Given the description of an element on the screen output the (x, y) to click on. 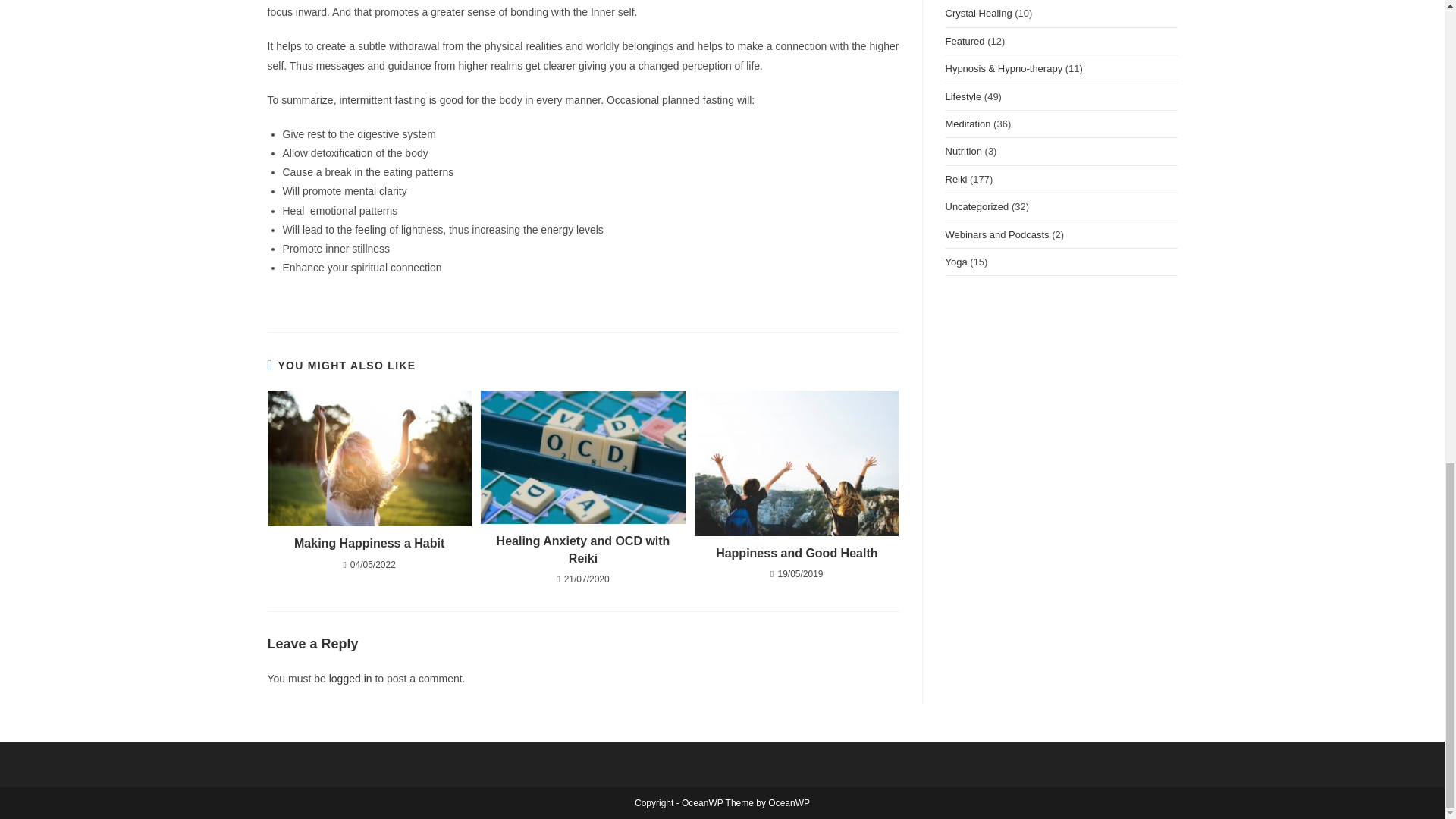
logged in (350, 678)
Healing Anxiety and OCD with Reiki (582, 550)
Making Happiness a Habit (368, 543)
Happiness and Good Health (796, 553)
Crystal Healing (977, 12)
